Given the description of an element on the screen output the (x, y) to click on. 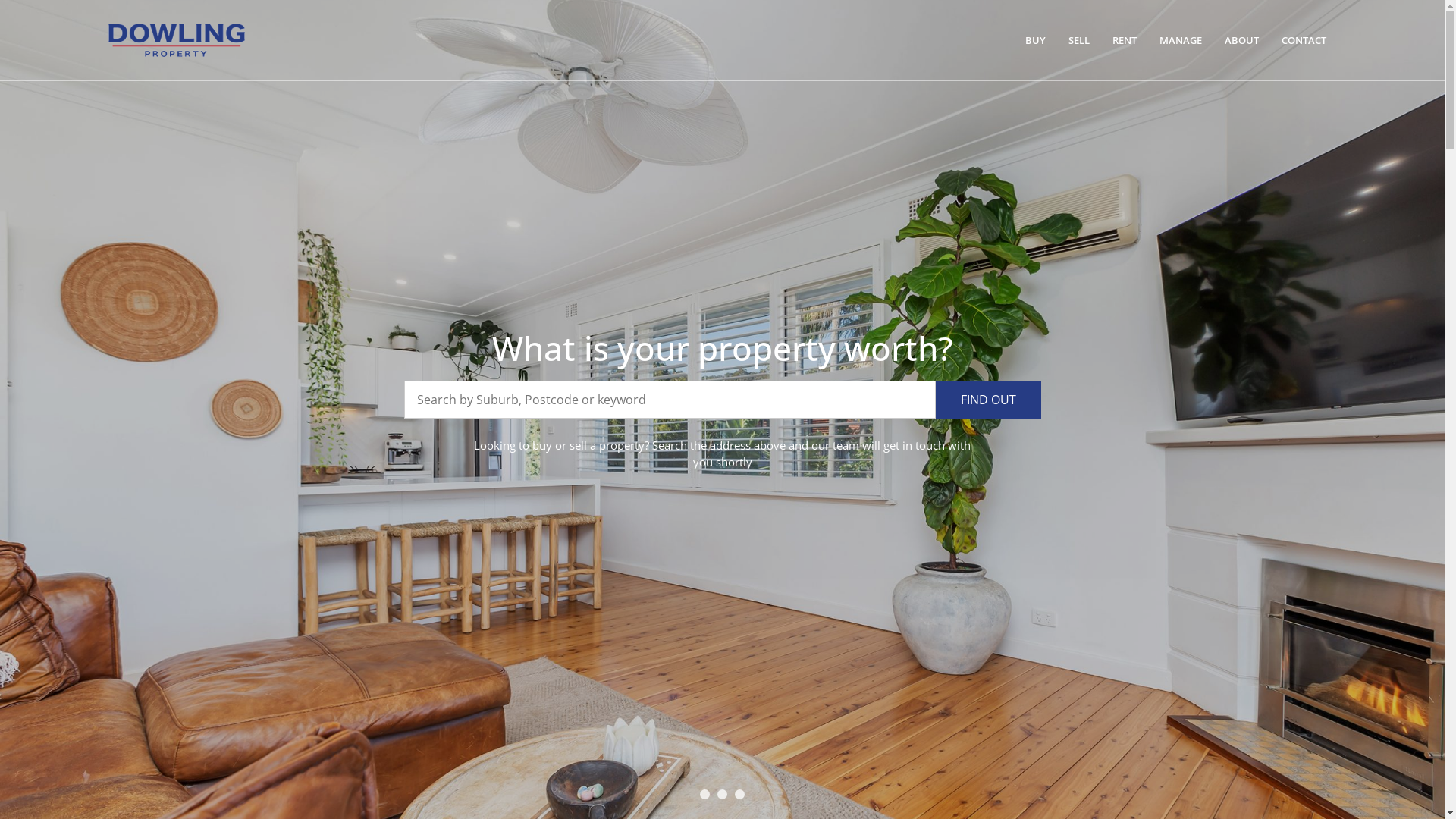
RENT Element type: text (1124, 40)
FIND OUT Element type: text (988, 399)
ABOUT Element type: text (1241, 40)
SELL Element type: text (1078, 40)
BUY Element type: text (1035, 40)
CONTACT Element type: text (1303, 40)
MANAGE Element type: text (1180, 40)
